Given the description of an element on the screen output the (x, y) to click on. 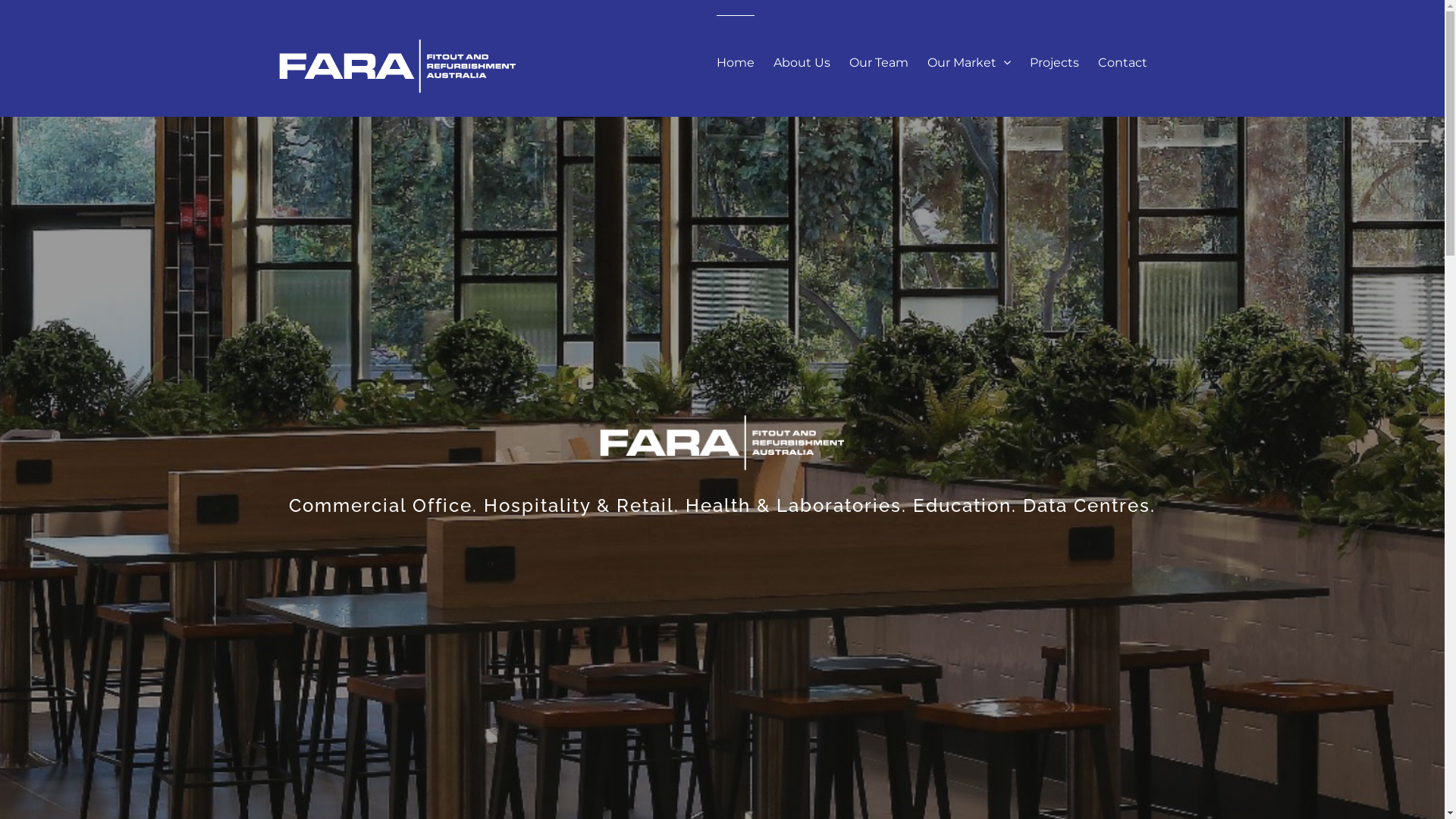
Home Element type: text (734, 62)
Our Market Element type: text (968, 62)
Projects Element type: text (1054, 62)
Contact Element type: text (1122, 62)
About Us Element type: text (801, 62)
Our Team Element type: text (878, 62)
